Given the description of an element on the screen output the (x, y) to click on. 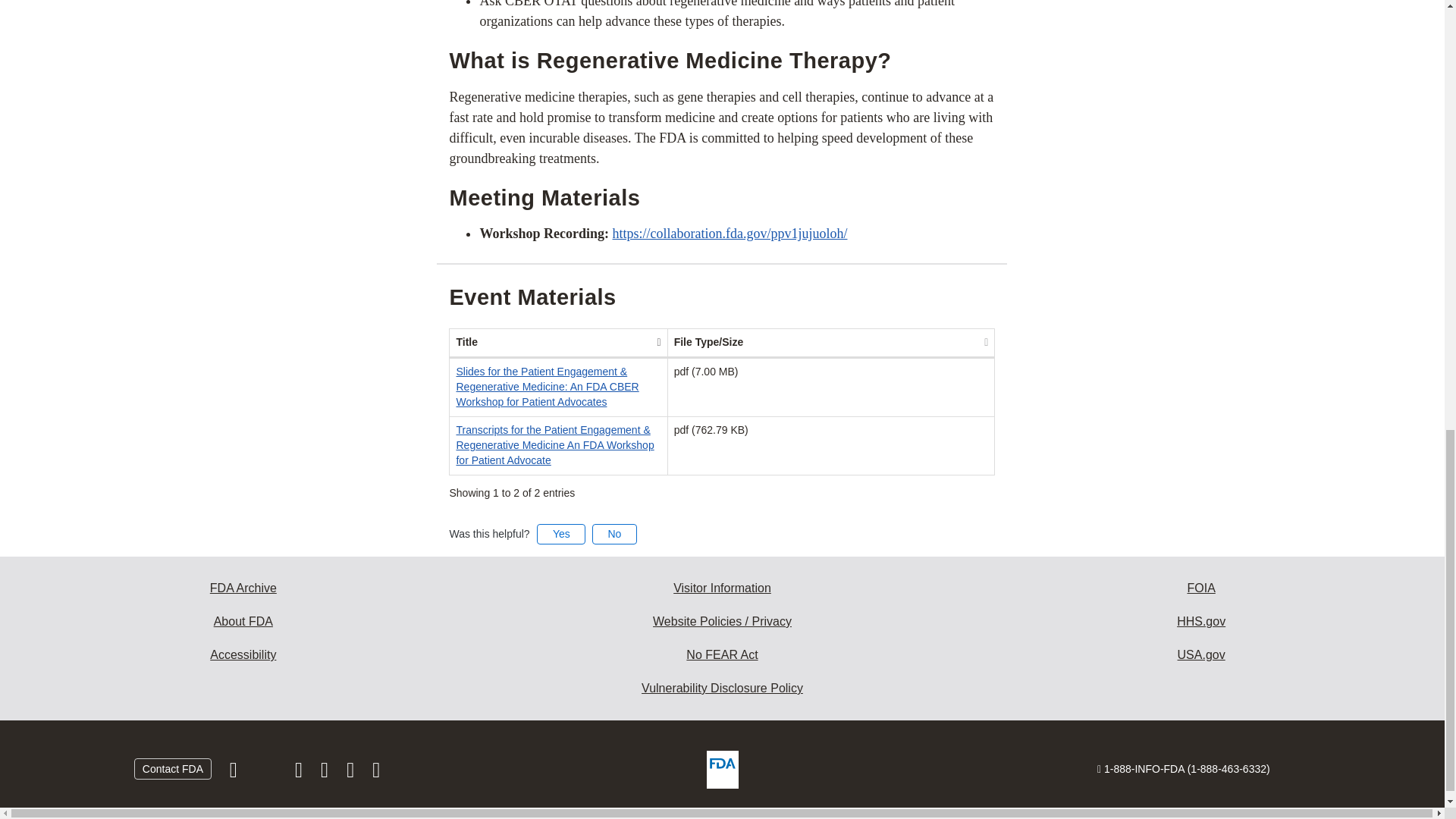
Yes (561, 534)
Freedom of Information Act (1200, 588)
Follow FDA on Facebook (234, 773)
Follow FDA on X (266, 773)
Subscribe to FDA RSS feeds (376, 773)
Follow FDA on Instagram (299, 773)
No (614, 534)
Health and Human Services (1200, 621)
Follow FDA on LinkedIn (326, 773)
View FDA videos on YouTube (352, 773)
